Given the description of an element on the screen output the (x, y) to click on. 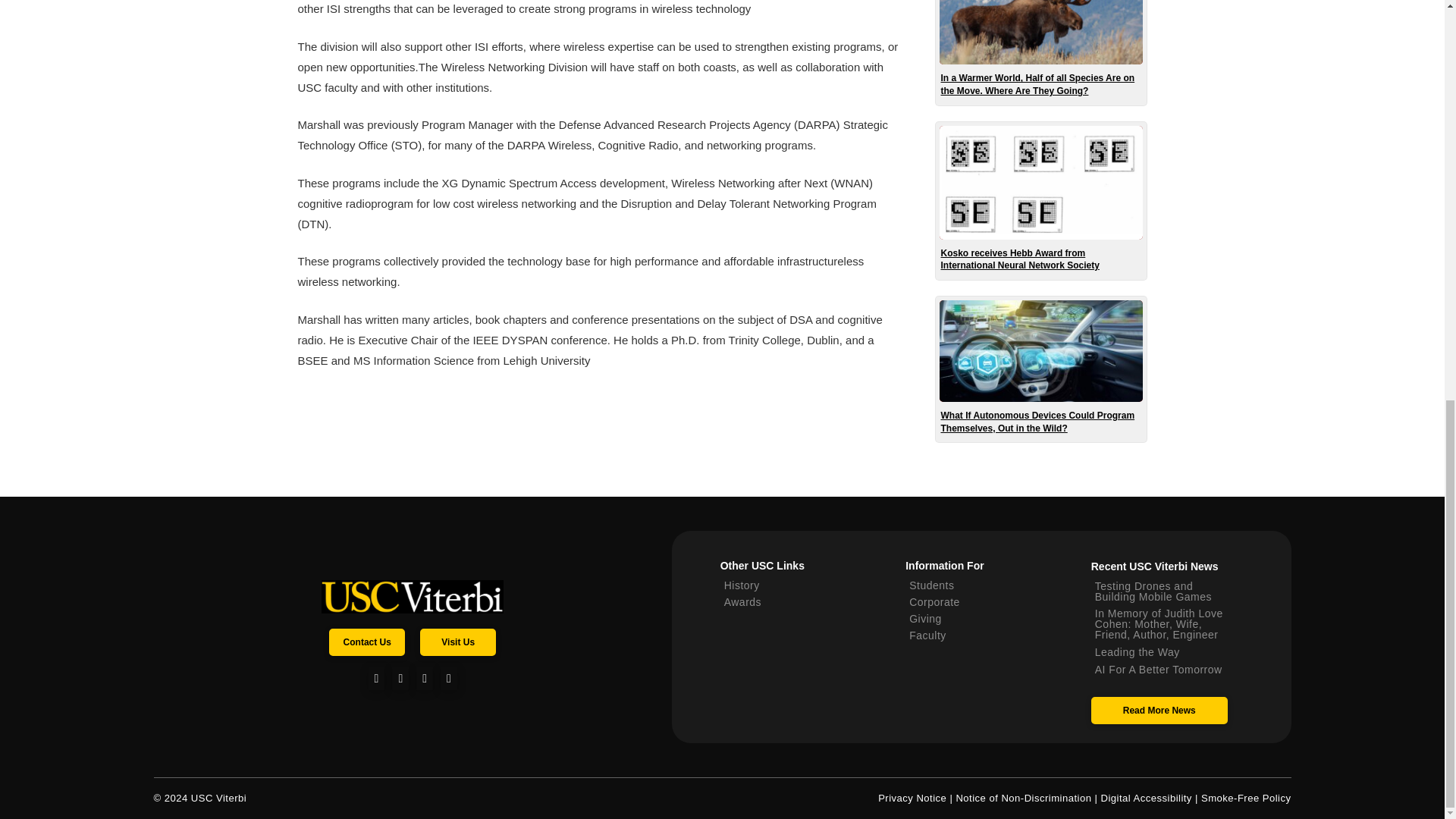
Contact Us (366, 642)
Visit Us (458, 642)
